Given the description of an element on the screen output the (x, y) to click on. 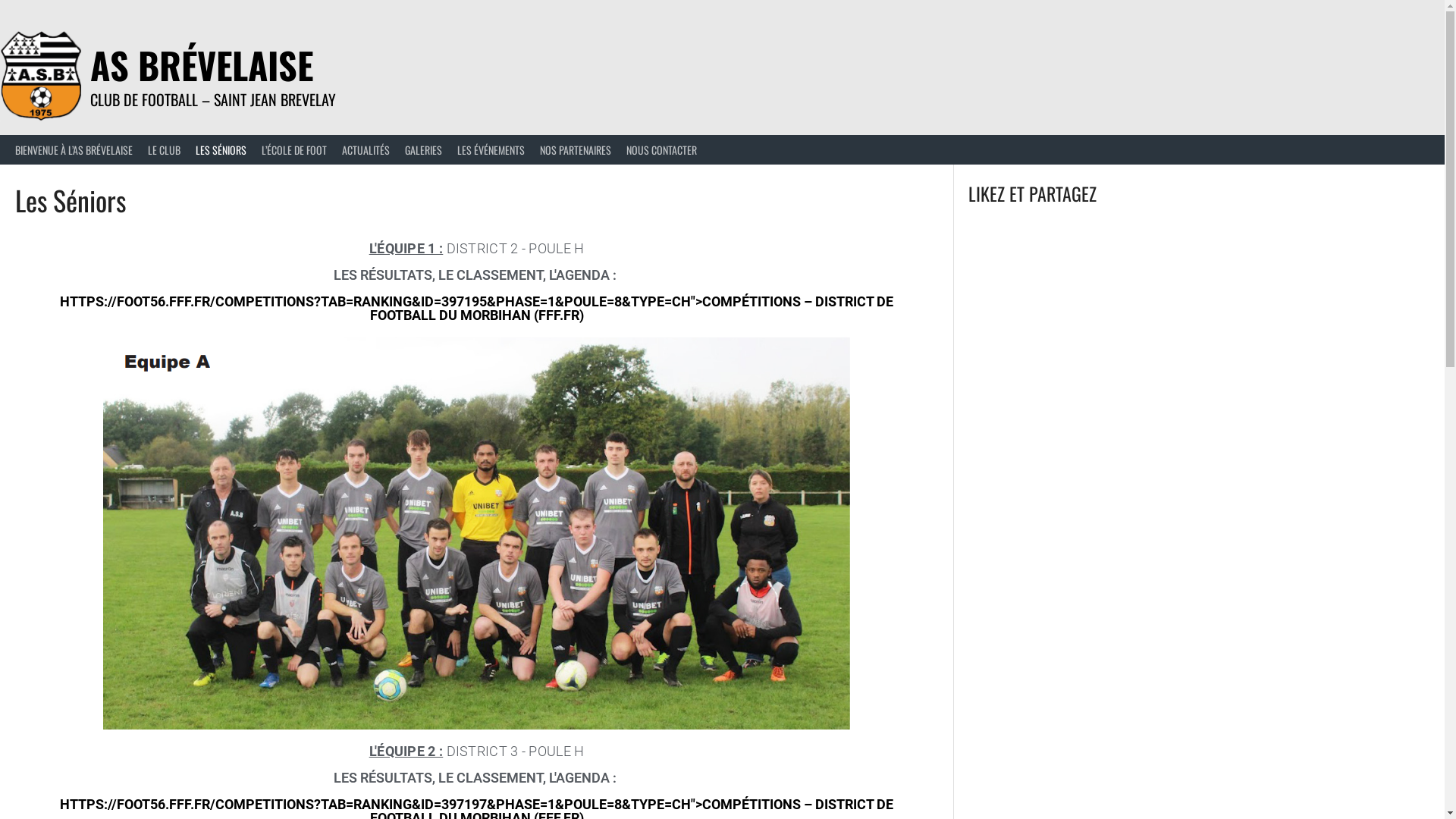
GALERIES Element type: text (423, 149)
NOS PARTENAIRES Element type: text (575, 149)
NOUS CONTACTER Element type: text (661, 149)
LE CLUB Element type: text (164, 149)
